Given the description of an element on the screen output the (x, y) to click on. 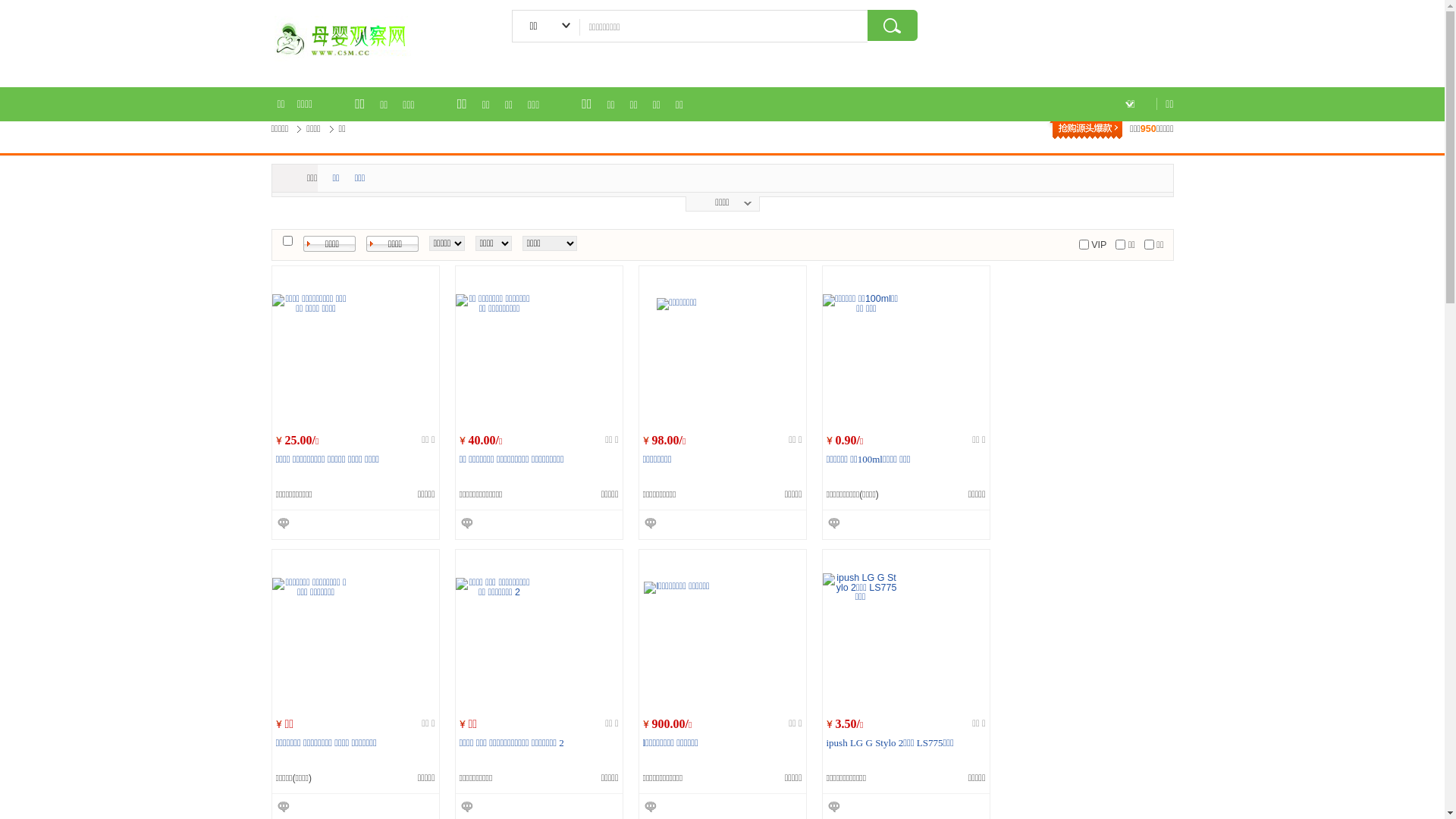
on Element type: text (1149, 244)
on Element type: text (1120, 244)
on Element type: text (286, 240)
on Element type: text (1083, 244)
